Given the description of an element on the screen output the (x, y) to click on. 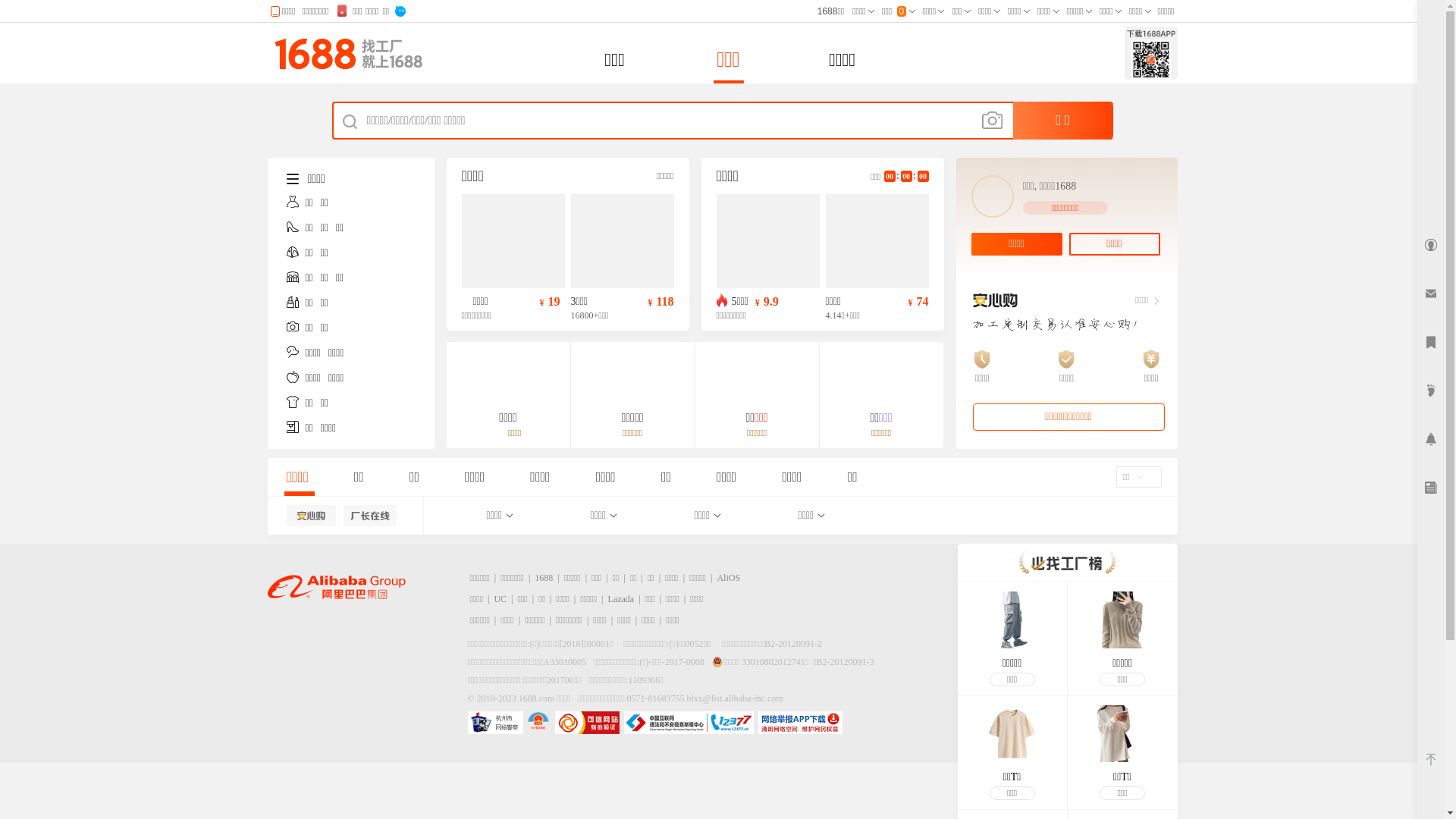
Lazada Element type: text (621, 598)
1688 Element type: text (543, 577)
AliOS Element type: text (728, 577)
UC Element type: text (499, 598)
